Given the description of an element on the screen output the (x, y) to click on. 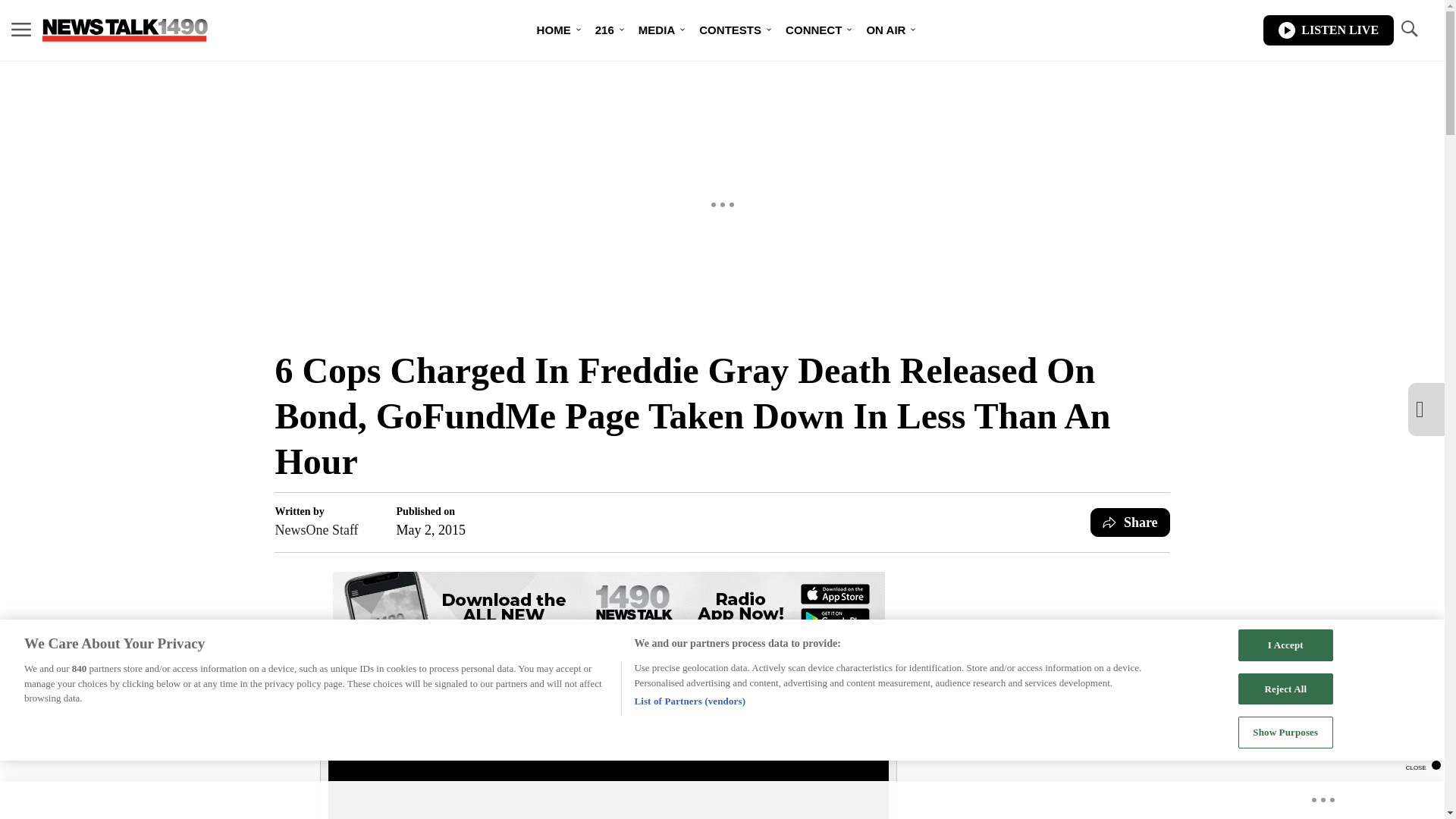
HOME (553, 30)
NewsOne Staff (316, 529)
MEDIA (656, 30)
TOGGLE SEARCH (1408, 28)
Share (1130, 522)
MENU (20, 29)
MENU (20, 30)
CONTESTS (730, 30)
TOGGLE SEARCH (1408, 30)
LISTEN LIVE (1328, 30)
CONNECT (813, 30)
ON AIR (885, 30)
